Given the description of an element on the screen output the (x, y) to click on. 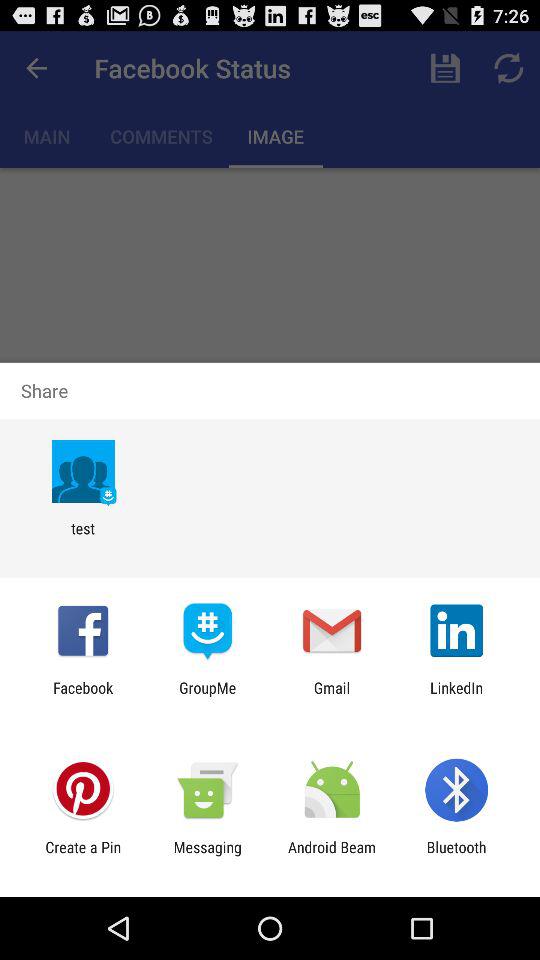
scroll until the gmail item (331, 696)
